Given the description of an element on the screen output the (x, y) to click on. 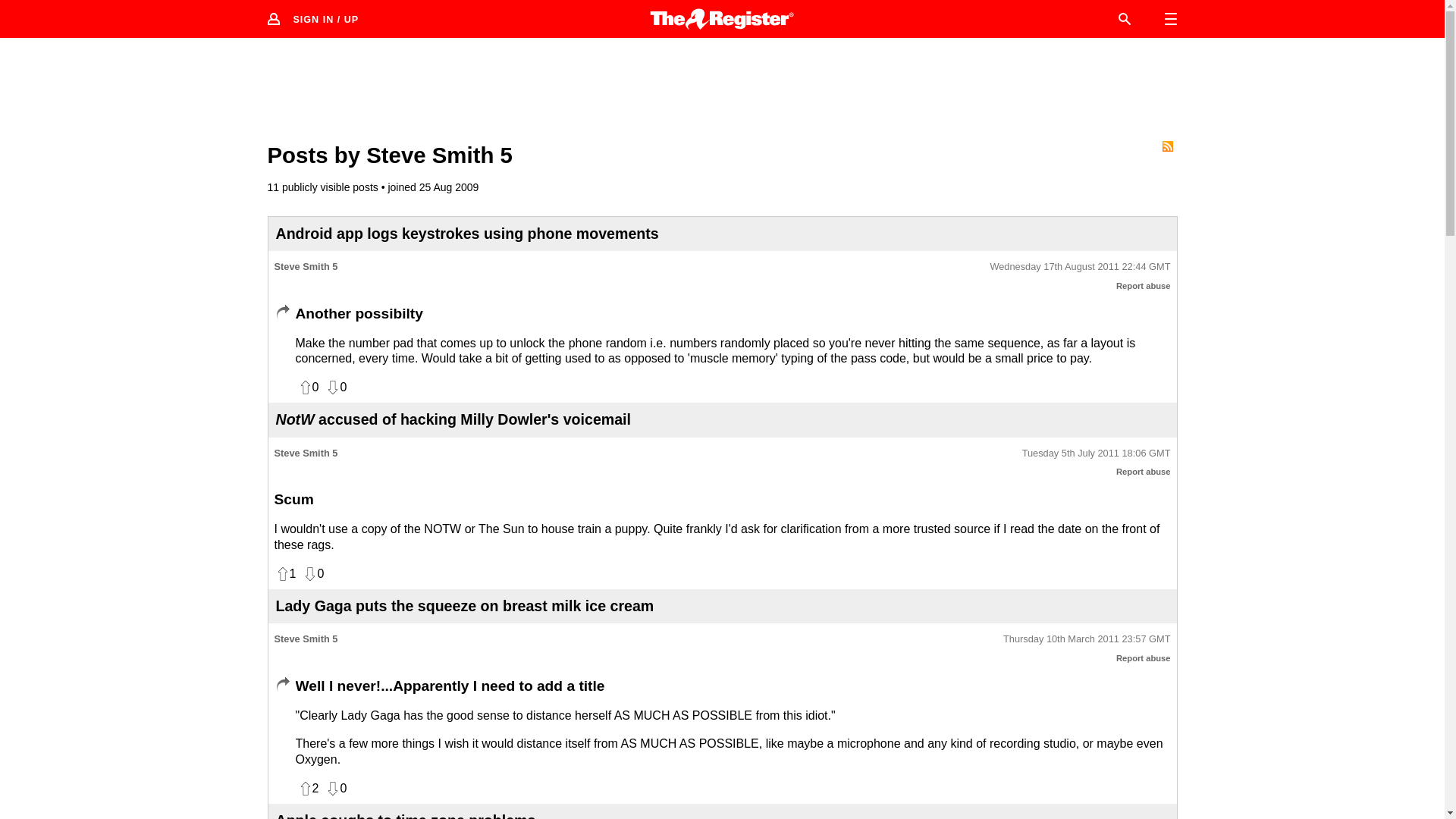
Report abuse (1143, 285)
In reply to (282, 684)
Inappropriate post? Report it to our moderators (1143, 657)
In reply to (282, 312)
Permalink to this post (1096, 453)
Like this post? Vote for it! (307, 387)
Like this post? Vote for it! (307, 788)
Dislike this post? Vote it down! (335, 387)
Inappropriate post? Report it to our moderators (1143, 285)
Feed of new posts by this user (1166, 145)
Inappropriate post? Report it to our moderators (1143, 470)
Dislike this post? Vote it down! (312, 573)
Dislike this post? Vote it down! (335, 788)
Permalink to this post (1080, 267)
Like this post? Vote for it! (286, 573)
